Given the description of an element on the screen output the (x, y) to click on. 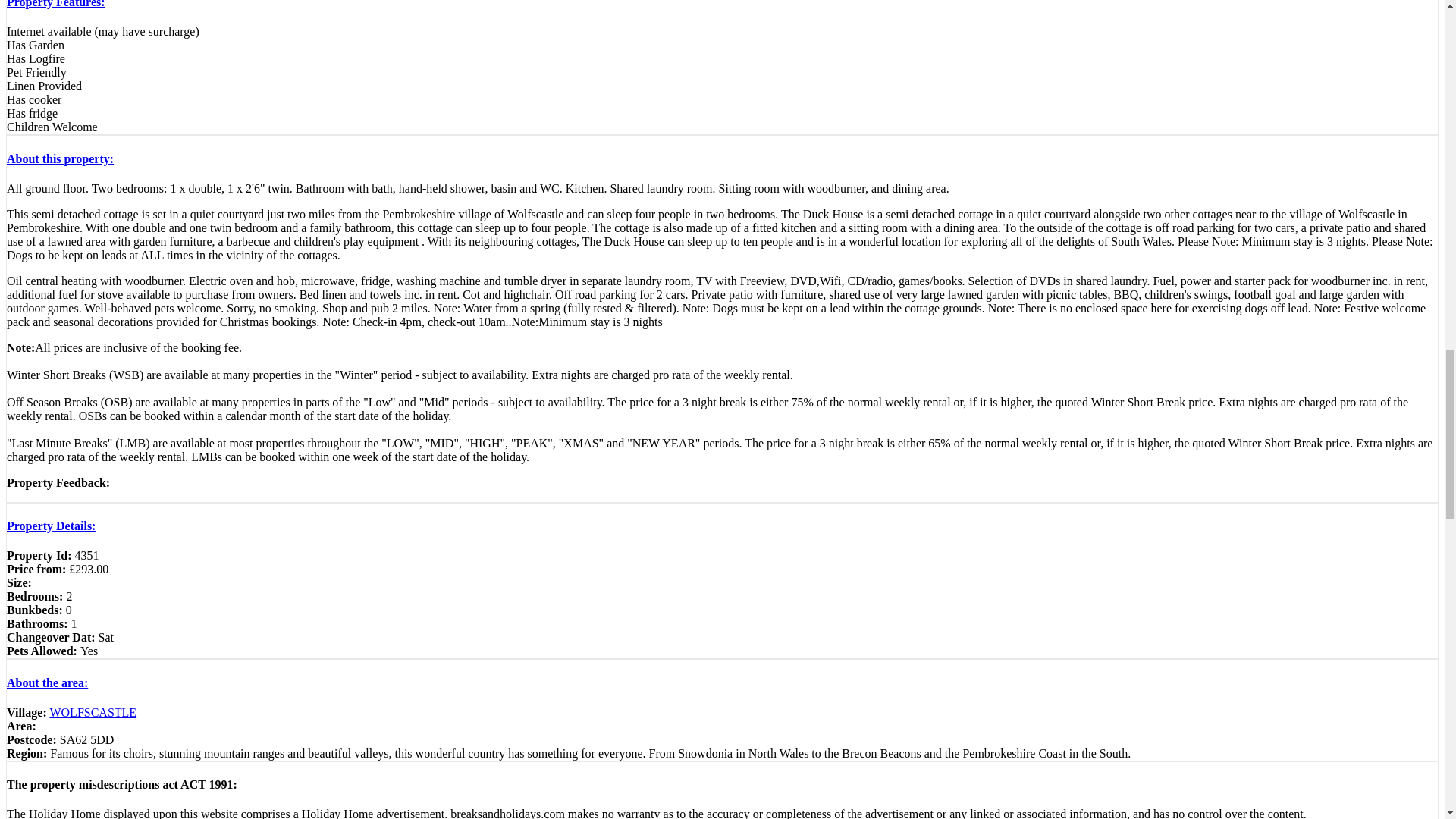
WOLFSCASTLE (92, 712)
